Given the description of an element on the screen output the (x, y) to click on. 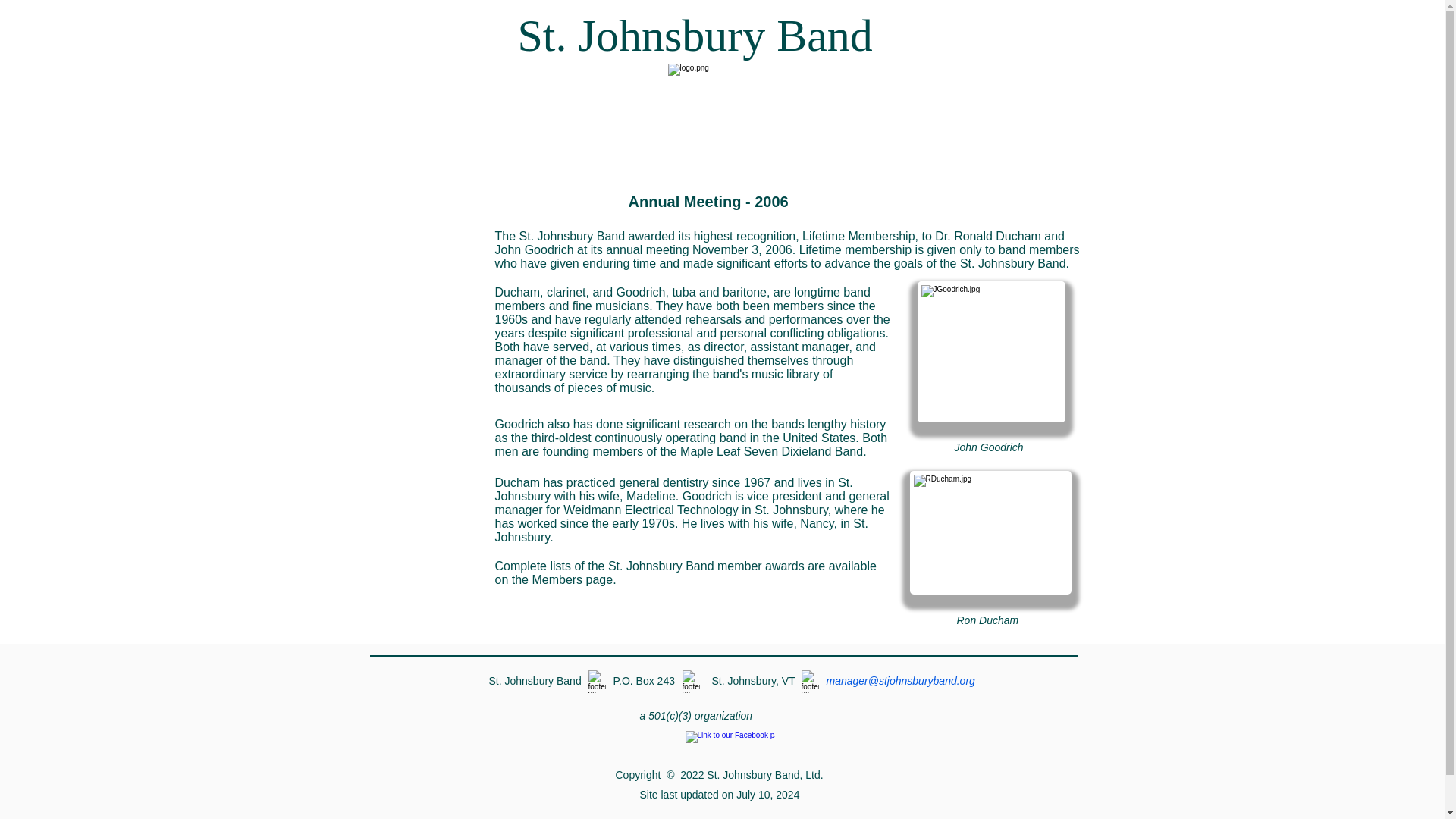
Mission (413, 201)
Calendar (413, 236)
History (413, 307)
Contact Us (413, 379)
John Goodrich (991, 351)
Members (413, 343)
News (413, 272)
Home (413, 415)
Ron Ducham (990, 532)
